Given the description of an element on the screen output the (x, y) to click on. 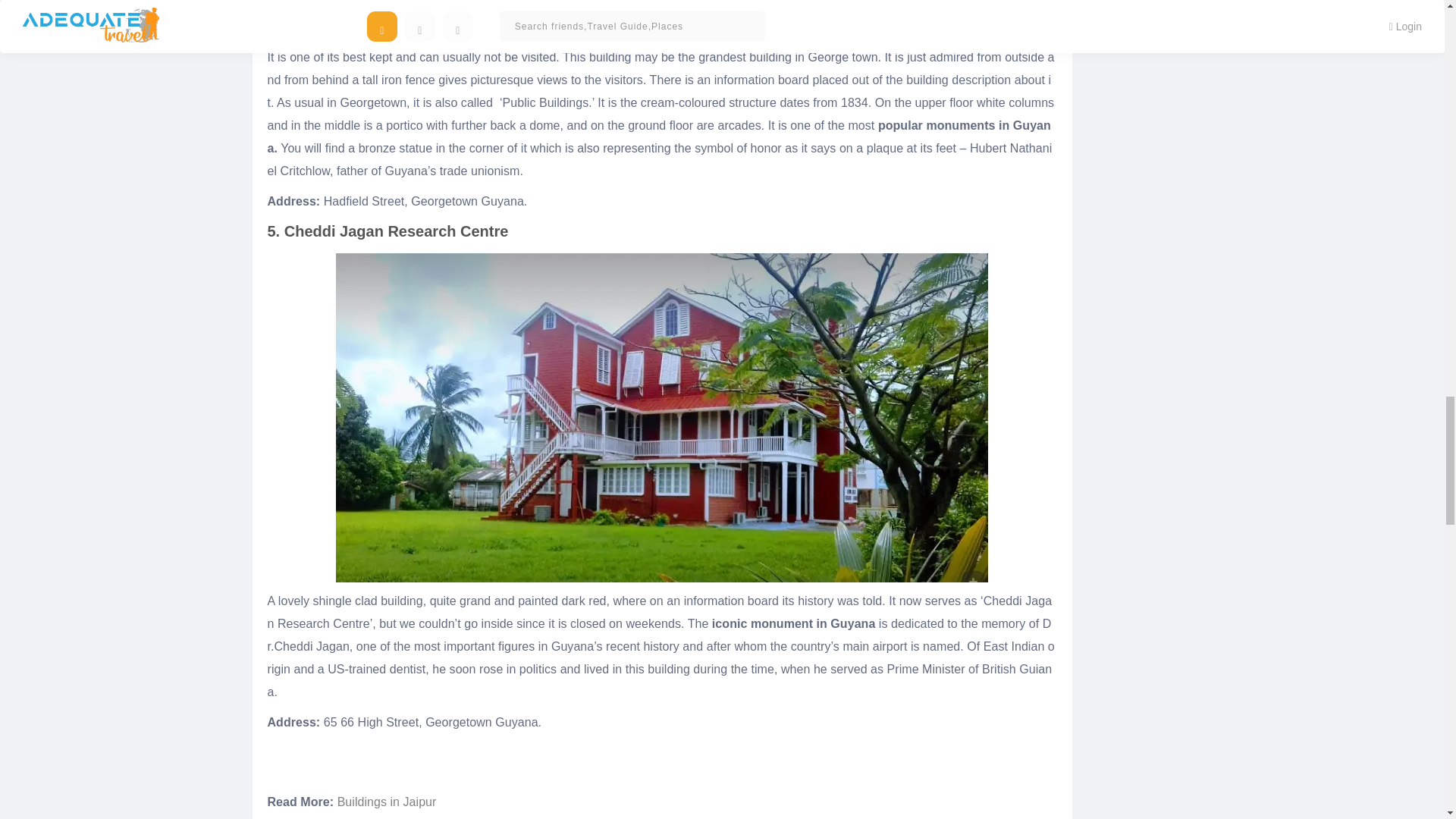
Buildings in Jaipur (386, 801)
4. Parliament Buildings of Guyana (661, 19)
